Given the description of an element on the screen output the (x, y) to click on. 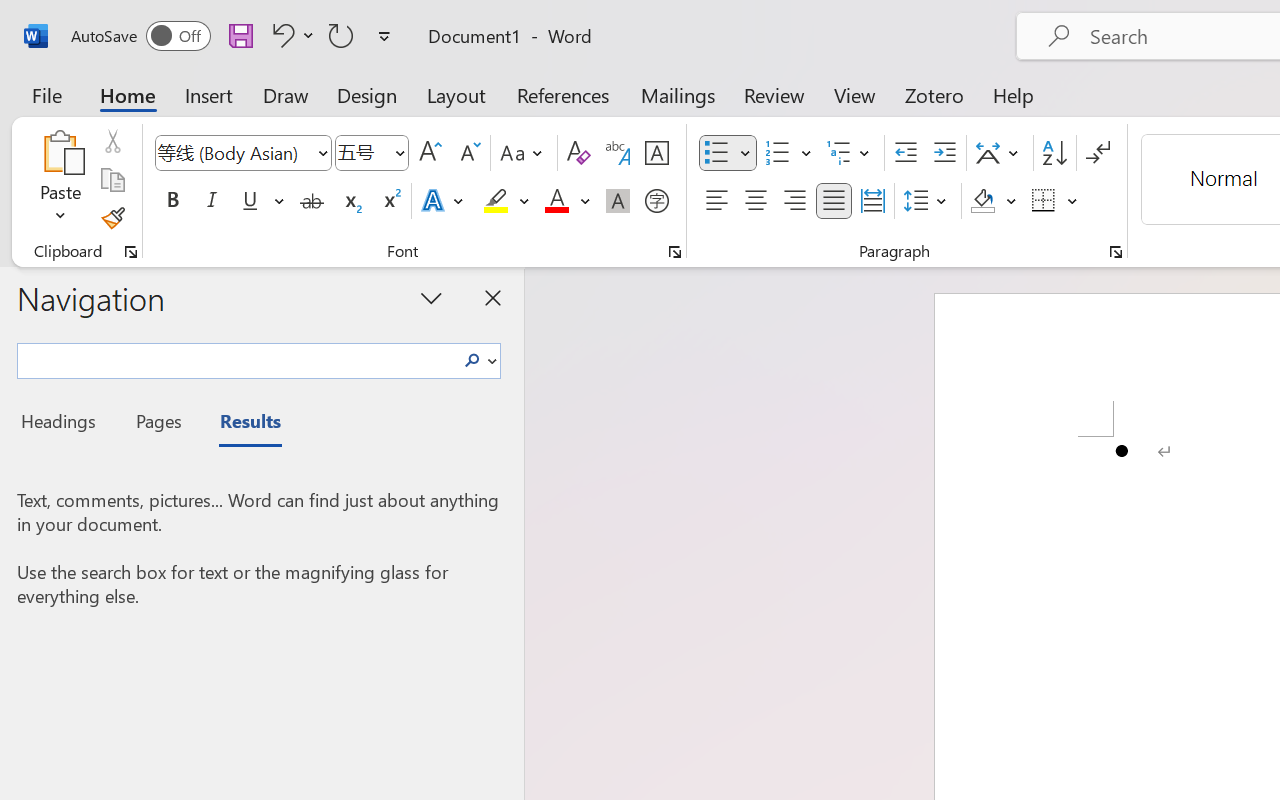
Headings (64, 424)
Repeat Bullet Default (341, 35)
